Given the description of an element on the screen output the (x, y) to click on. 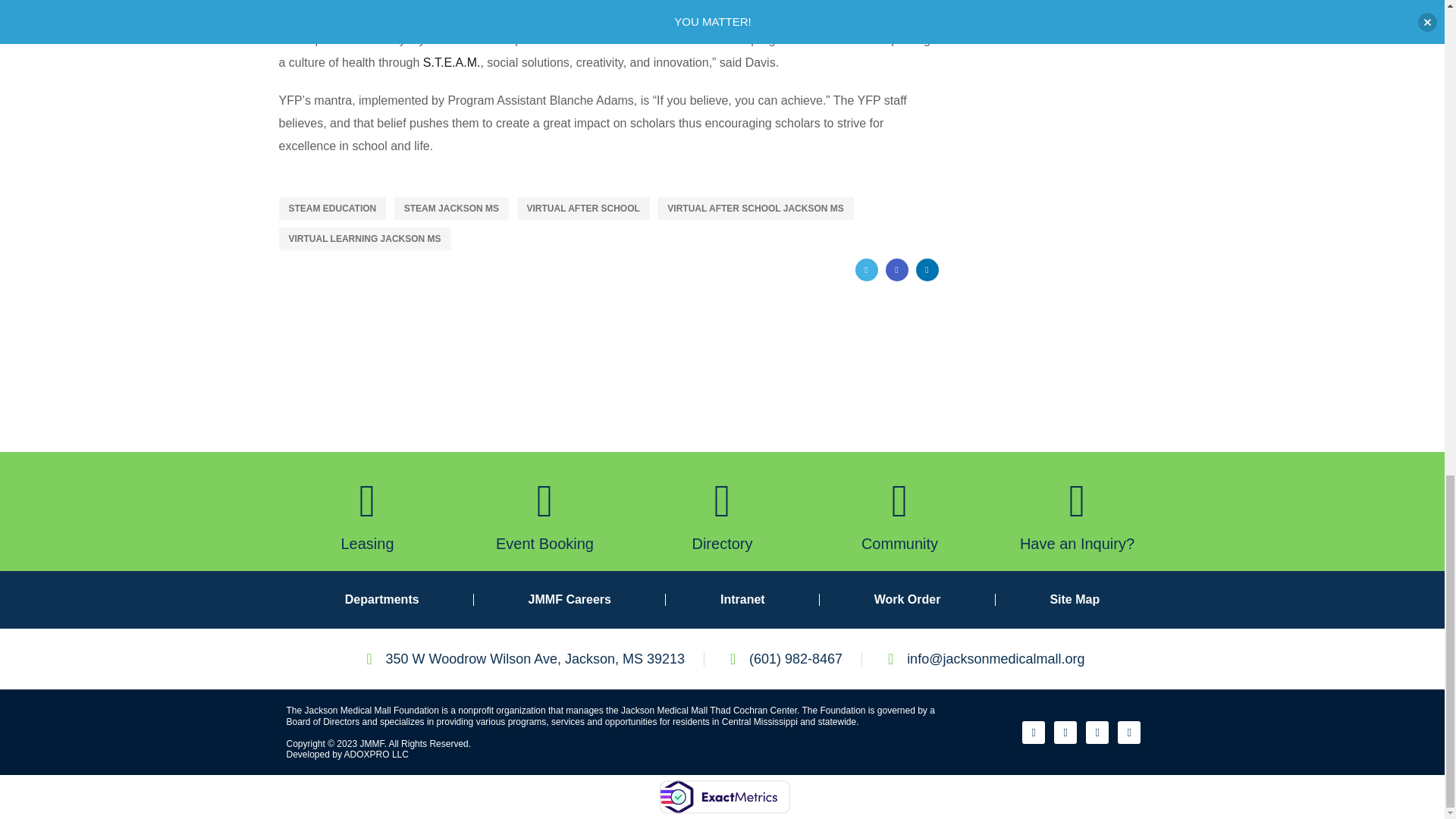
Facebook (896, 269)
LinkedIn (927, 269)
Twitter (866, 269)
